Given the description of an element on the screen output the (x, y) to click on. 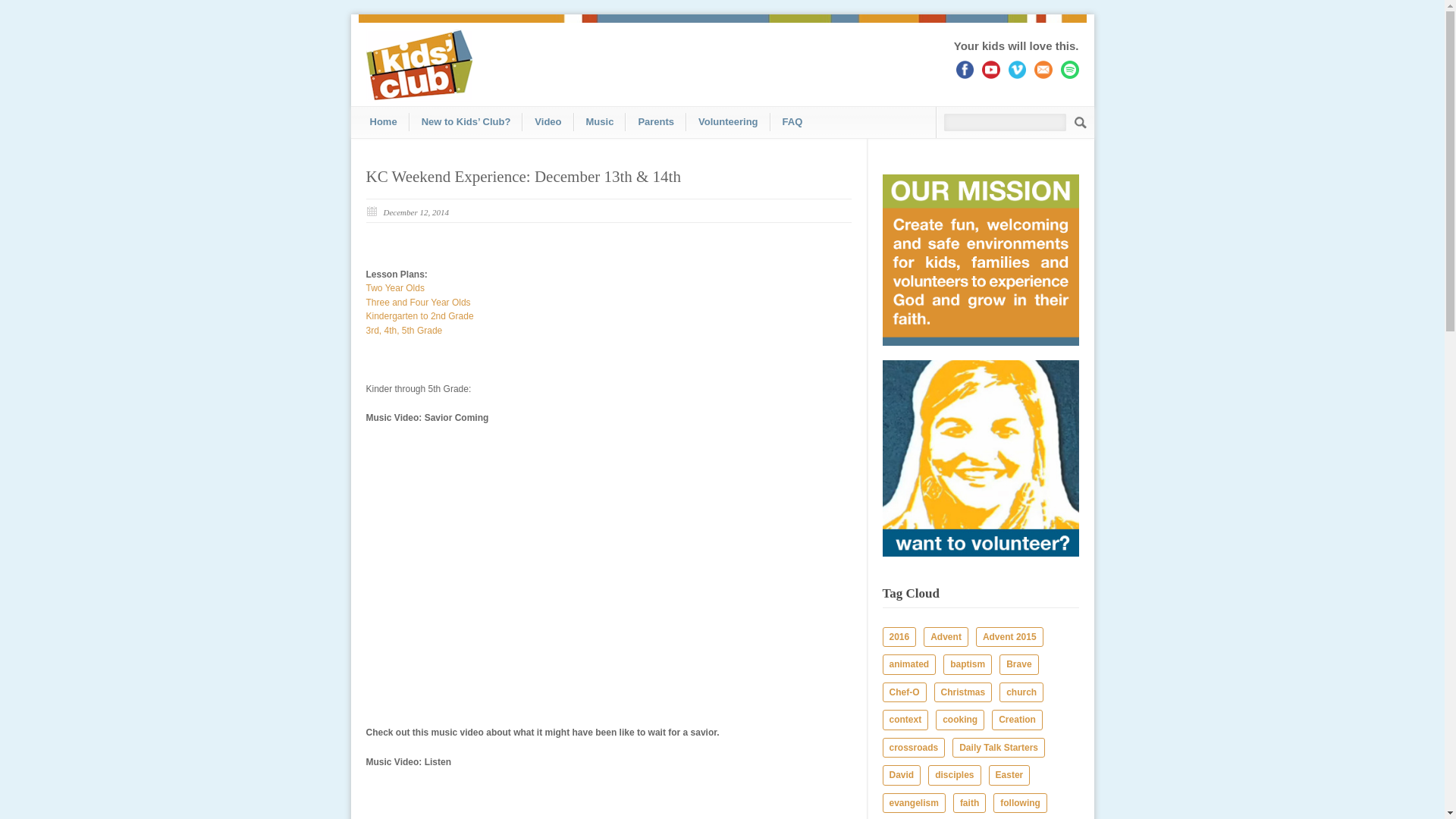
Creation (1016, 720)
church (1020, 692)
evangelism (913, 803)
Volunteering (727, 122)
David (901, 774)
baptism (967, 664)
Christmas (963, 692)
Three and Four Year Olds (417, 302)
Easter (1009, 774)
Video (547, 122)
